Given the description of an element on the screen output the (x, y) to click on. 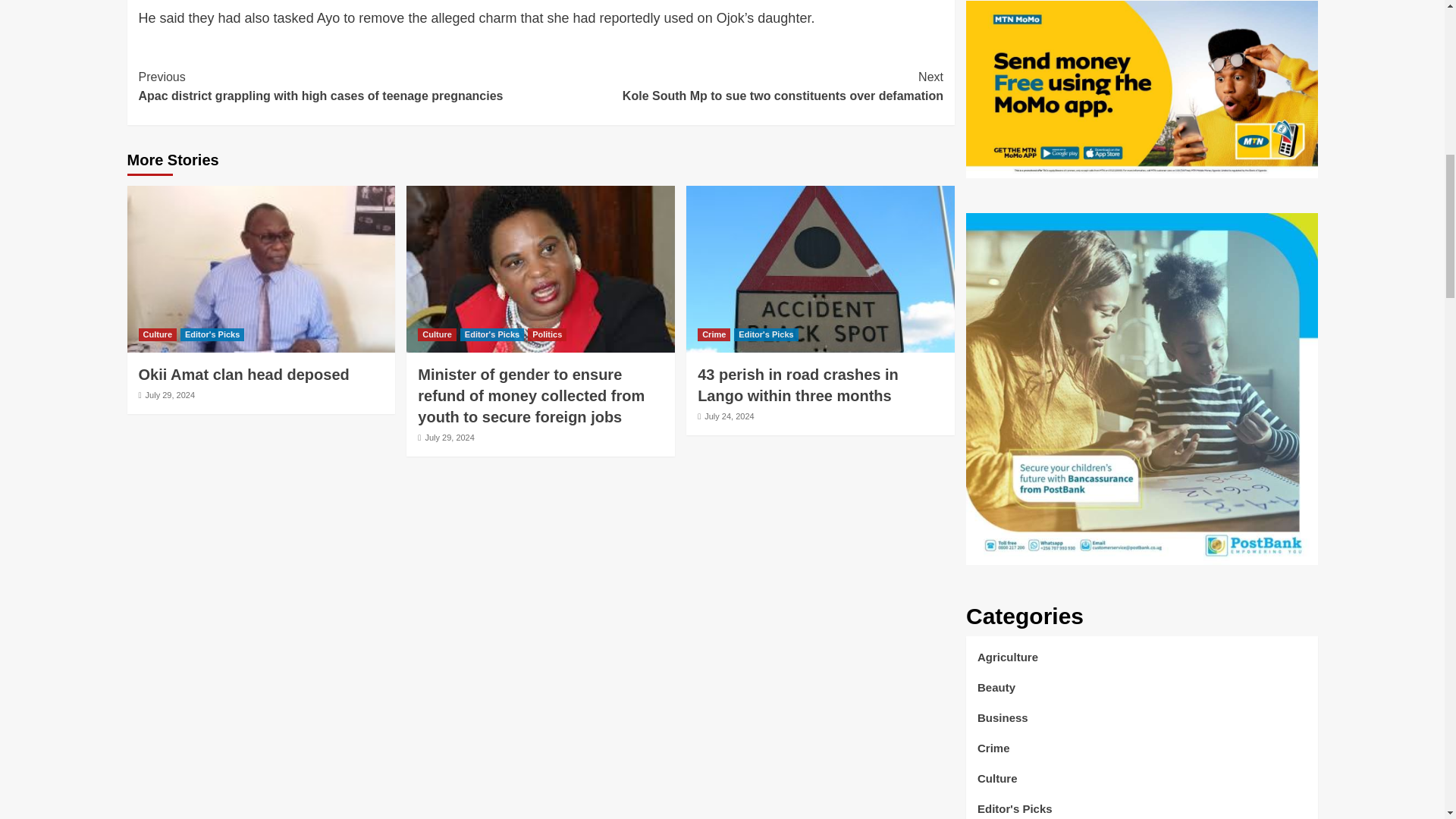
Editor's Picks (212, 334)
Okii Amat clan head deposed (243, 374)
Culture (157, 334)
